Given the description of an element on the screen output the (x, y) to click on. 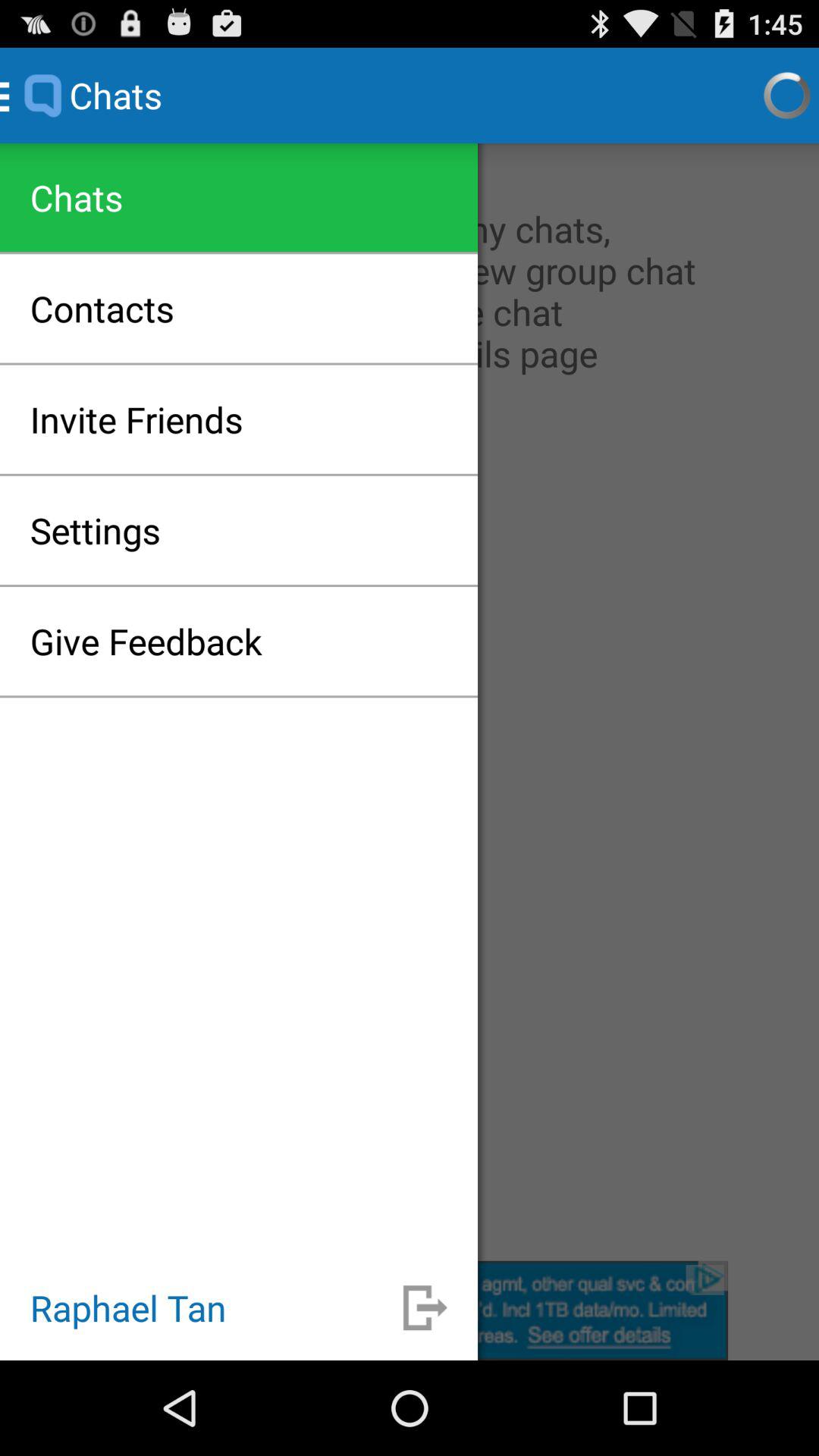
close the panel (409, 1310)
